Given the description of an element on the screen output the (x, y) to click on. 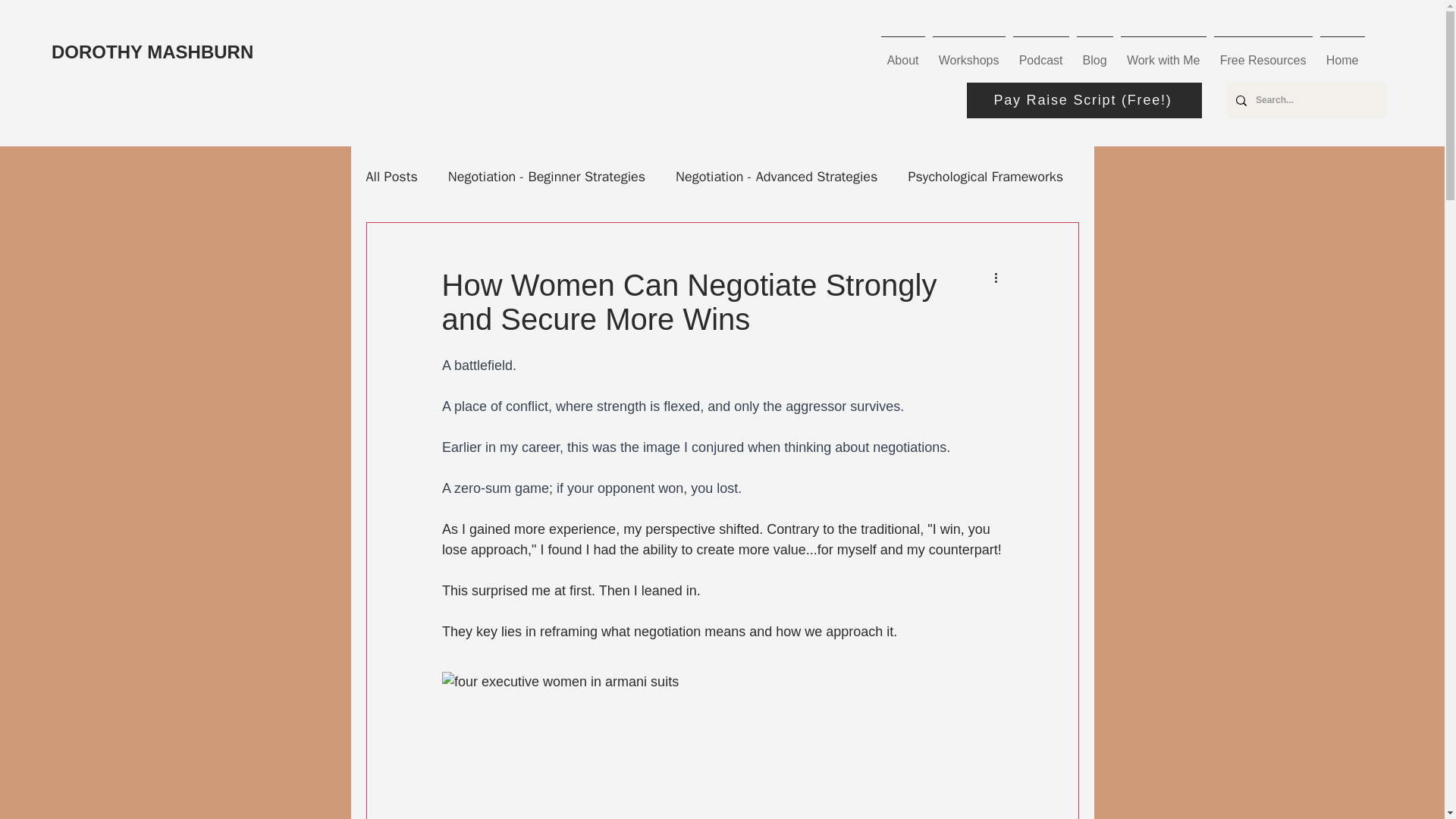
All Posts (390, 176)
Home (1342, 53)
Podcast (1040, 53)
Negotiation - Beginner Strategies (546, 176)
Work with Me (1162, 53)
Free Resources (1262, 53)
Workshops (968, 53)
Blog (1093, 53)
About (902, 53)
Negotiation - Advanced Strategies (776, 176)
Psychological Frameworks (984, 176)
